Given the description of an element on the screen output the (x, y) to click on. 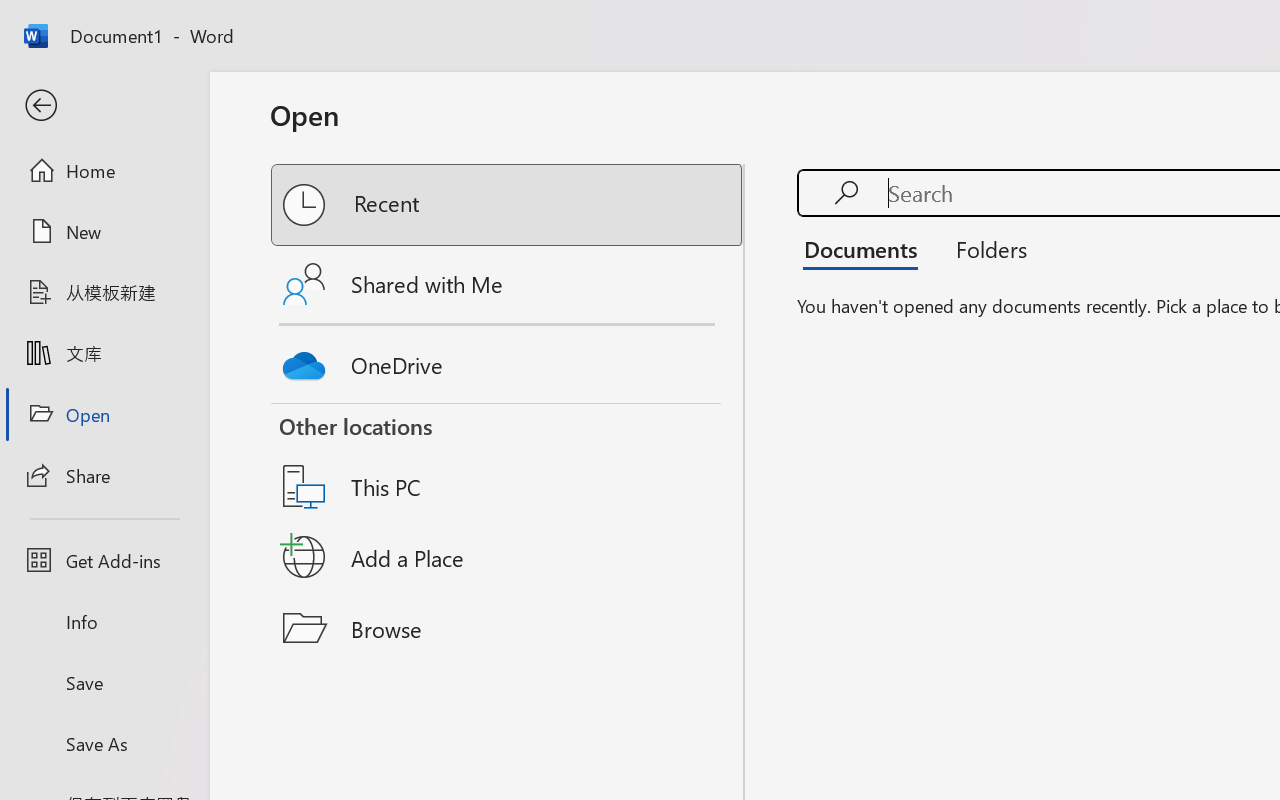
Save As (104, 743)
New (104, 231)
Folders (984, 248)
Recent (507, 205)
Info (104, 621)
Documents (866, 248)
Get Add-ins (104, 560)
Browse (507, 627)
